Given the description of an element on the screen output the (x, y) to click on. 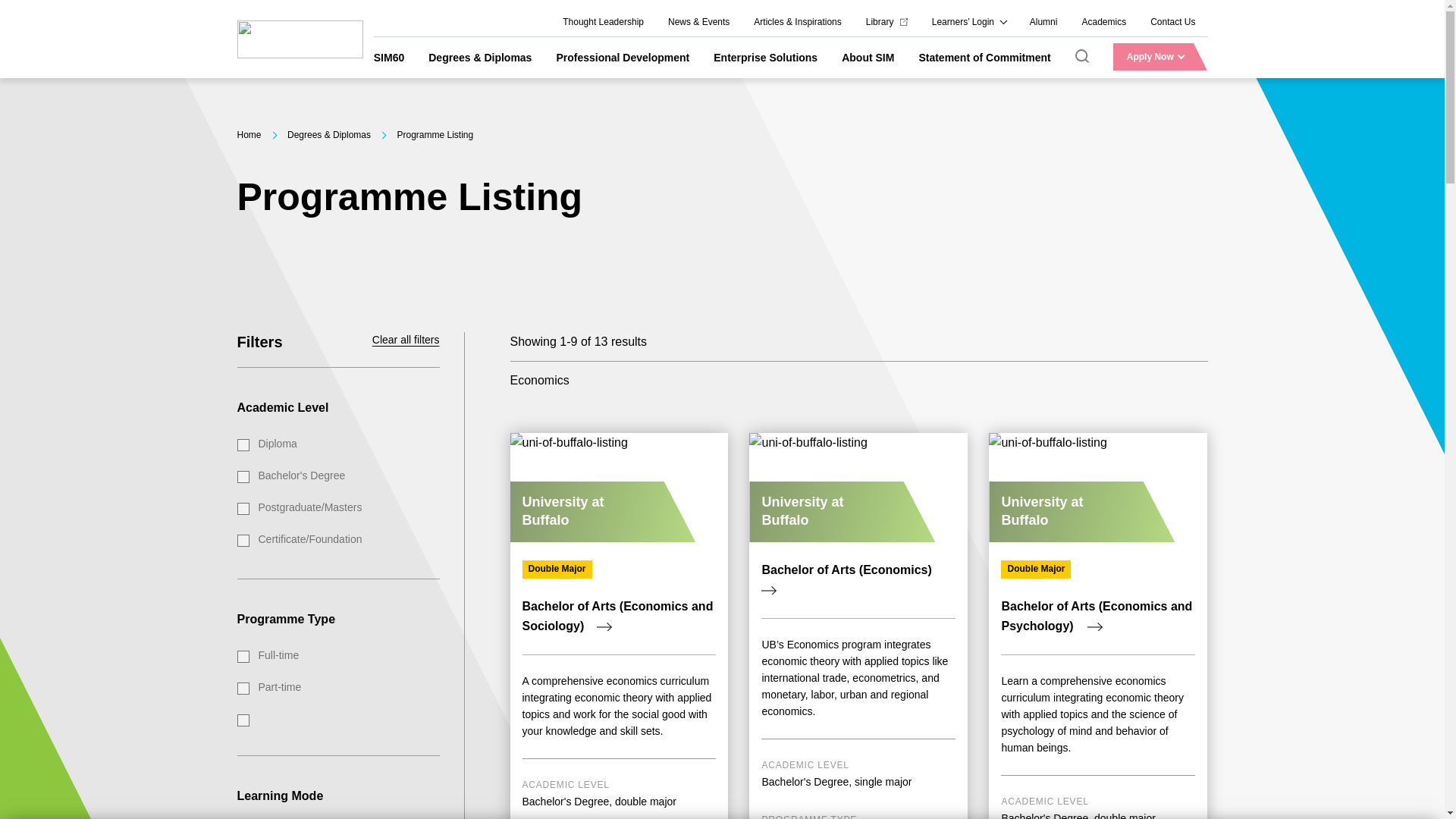
Library (886, 22)
true (241, 656)
true (241, 720)
Thought Leadership (603, 22)
true (241, 540)
Alumni (1043, 22)
true (241, 508)
true (241, 444)
Contact Us (1172, 22)
true (241, 476)
true (241, 688)
SIM60 (389, 56)
Academics (1103, 22)
